Given the description of an element on the screen output the (x, y) to click on. 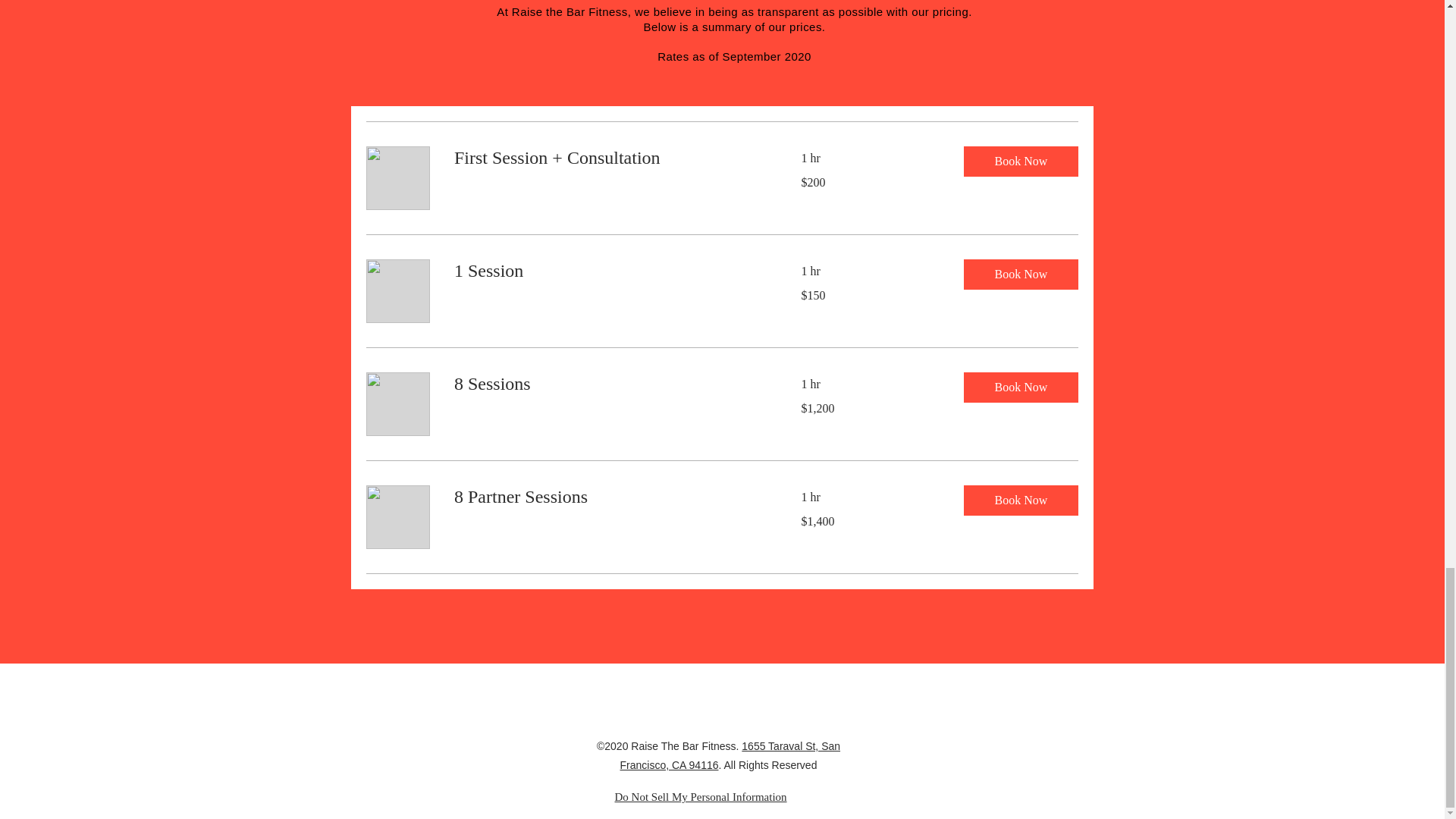
8 Sessions (608, 384)
1 Session (608, 271)
Book Now (1019, 387)
Book Now (1019, 274)
1655 Taraval St, San Francisco, CA 94116 (730, 755)
8 Partner Sessions (608, 497)
Book Now (1019, 500)
Book Now (1019, 161)
Do Not Sell My Personal Information (700, 797)
